Given the description of an element on the screen output the (x, y) to click on. 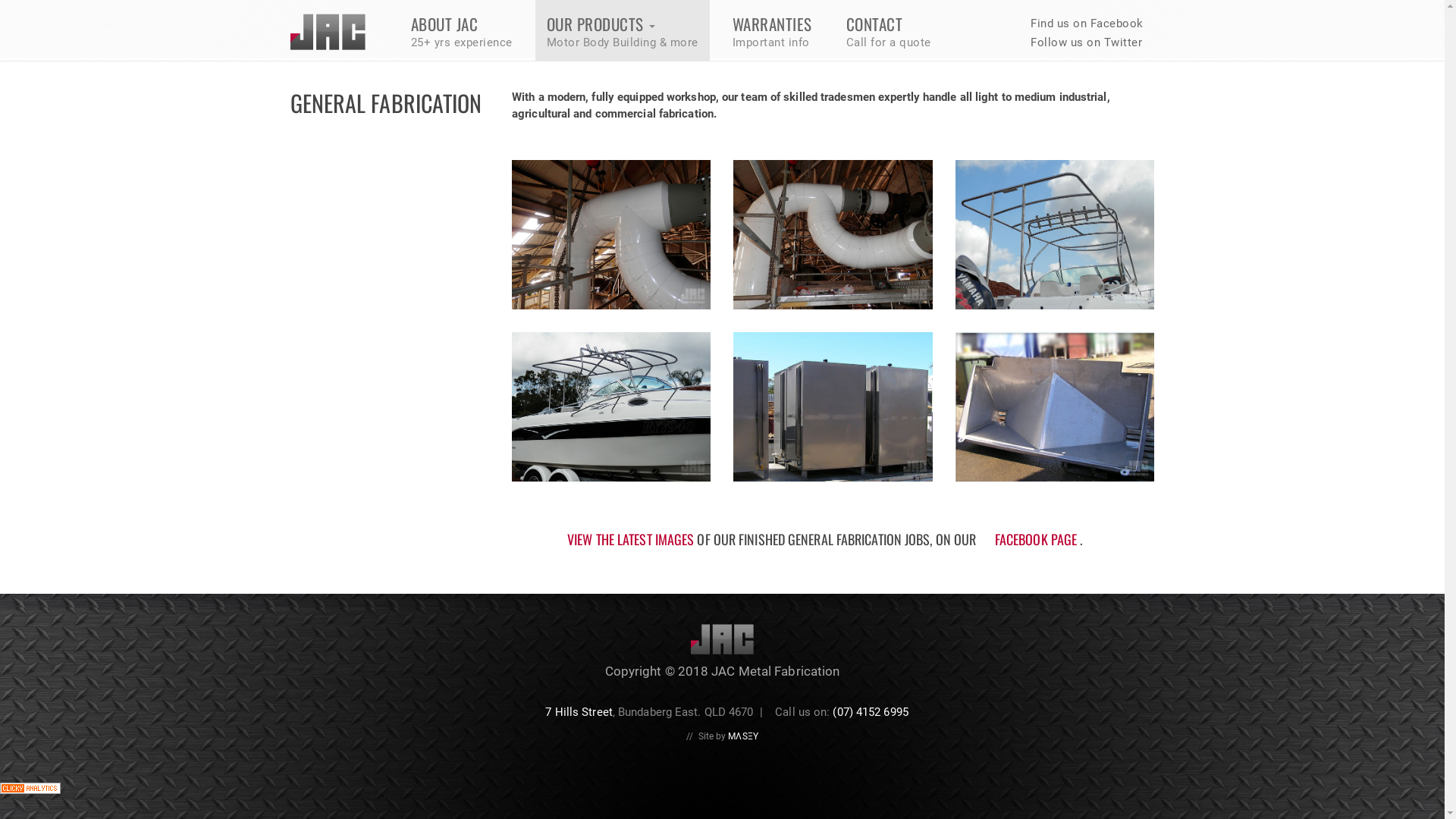
FACEBOOK PAGE Element type: text (1035, 539)
VIEW THE LATEST IMAGES Element type: text (630, 539)
JAC Industrial Pipe Lagging Element type: hover (832, 234)
JAC Custom Stainless Steel Canopy Frame & Rod Holder Element type: hover (610, 406)
  Find us on Facebook Element type: text (1083, 16)
JAC Industrial Pipe Lagging Element type: hover (610, 234)
(07) 4152 6995 Element type: text (869, 711)
Web Statistics Element type: hover (30, 787)
JAC Stainless Steel Oil Tanks Element type: hover (832, 406)
JAC Agricultural Double Funnel Element type: hover (1054, 406)
OUR PRODUCTS
Motor Body Building & more Element type: text (622, 30)
  Follow us on Twitter Element type: text (1083, 42)
JAC Custom Stainless Steel Canopy Frame & Rod Holder Element type: hover (1054, 234)
7 Hills Street Element type: text (578, 711)
WARRANTIES
Important info Element type: text (771, 30)
CONTACT
Call for a quote Element type: text (887, 30)
ABOUT JAC
25+ yrs experience Element type: text (460, 30)
